Given the description of an element on the screen output the (x, y) to click on. 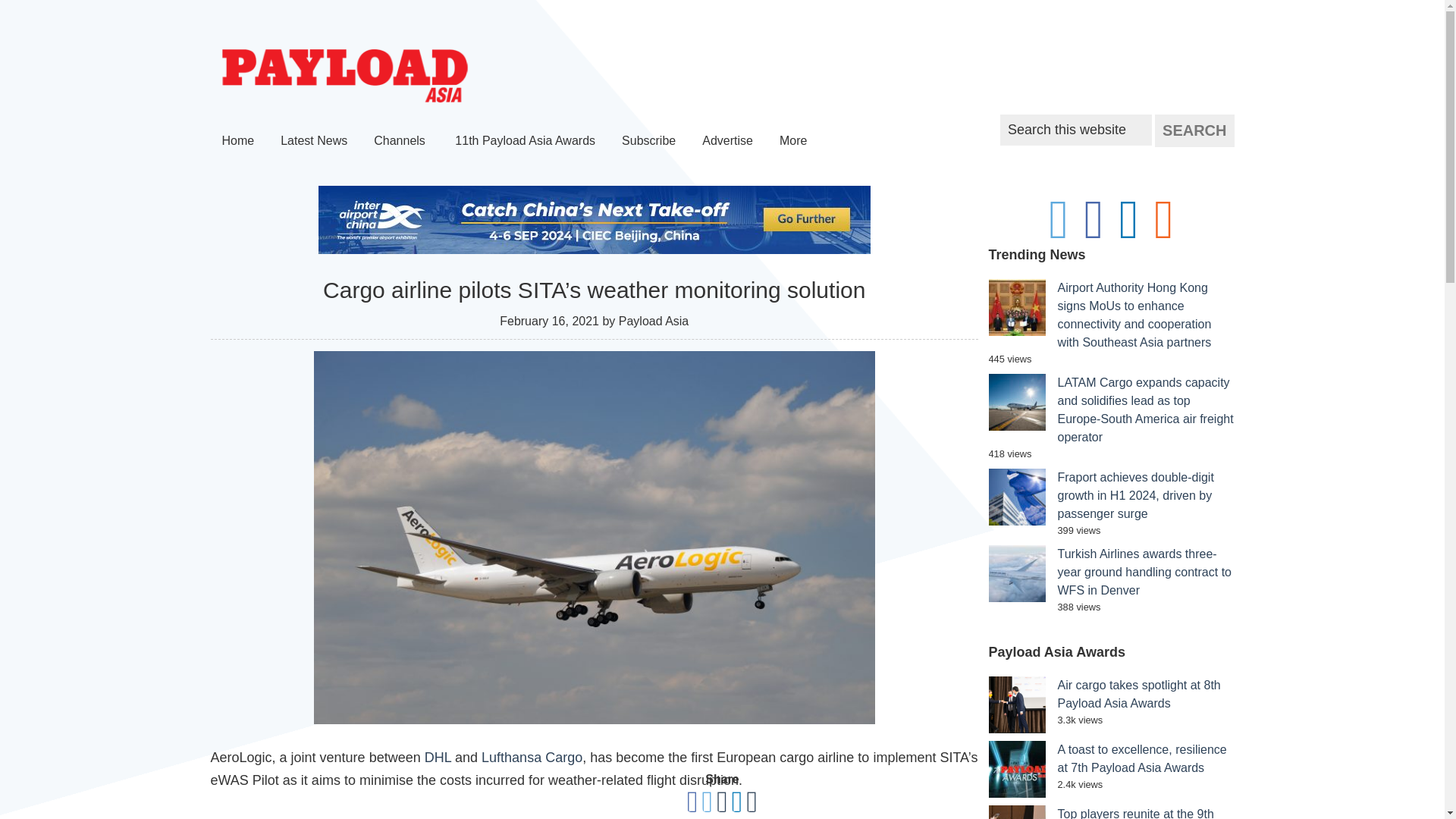
Advertise (727, 141)
Home (238, 141)
DHL (438, 757)
Payload Asia (344, 75)
More  (795, 141)
Channels  (400, 141)
11th Payload Asia Awards (525, 141)
Lufthansa Cargo (531, 757)
Search (1193, 130)
